Given the description of an element on the screen output the (x, y) to click on. 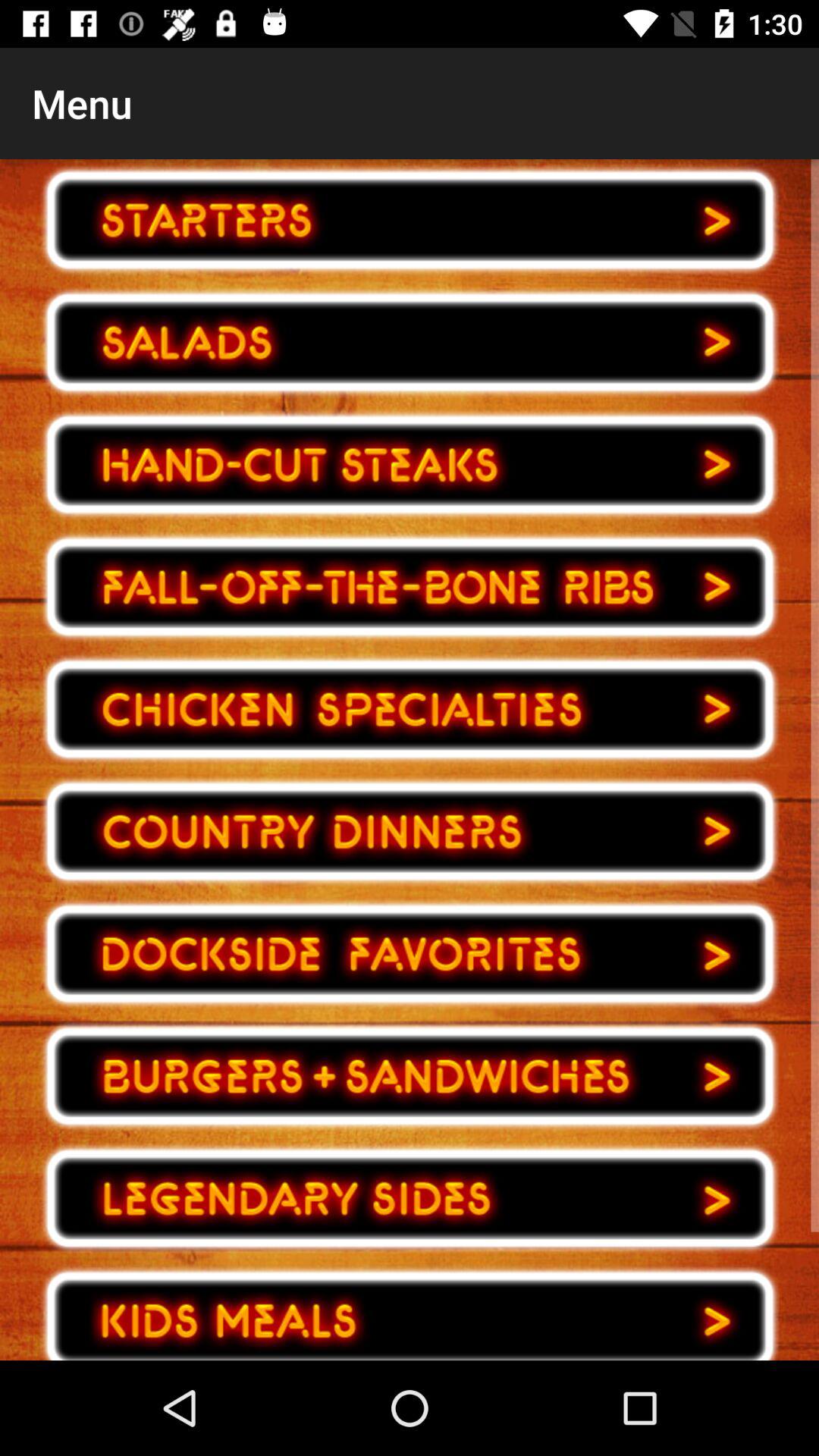
buttons to next page (409, 1309)
